Given the description of an element on the screen output the (x, y) to click on. 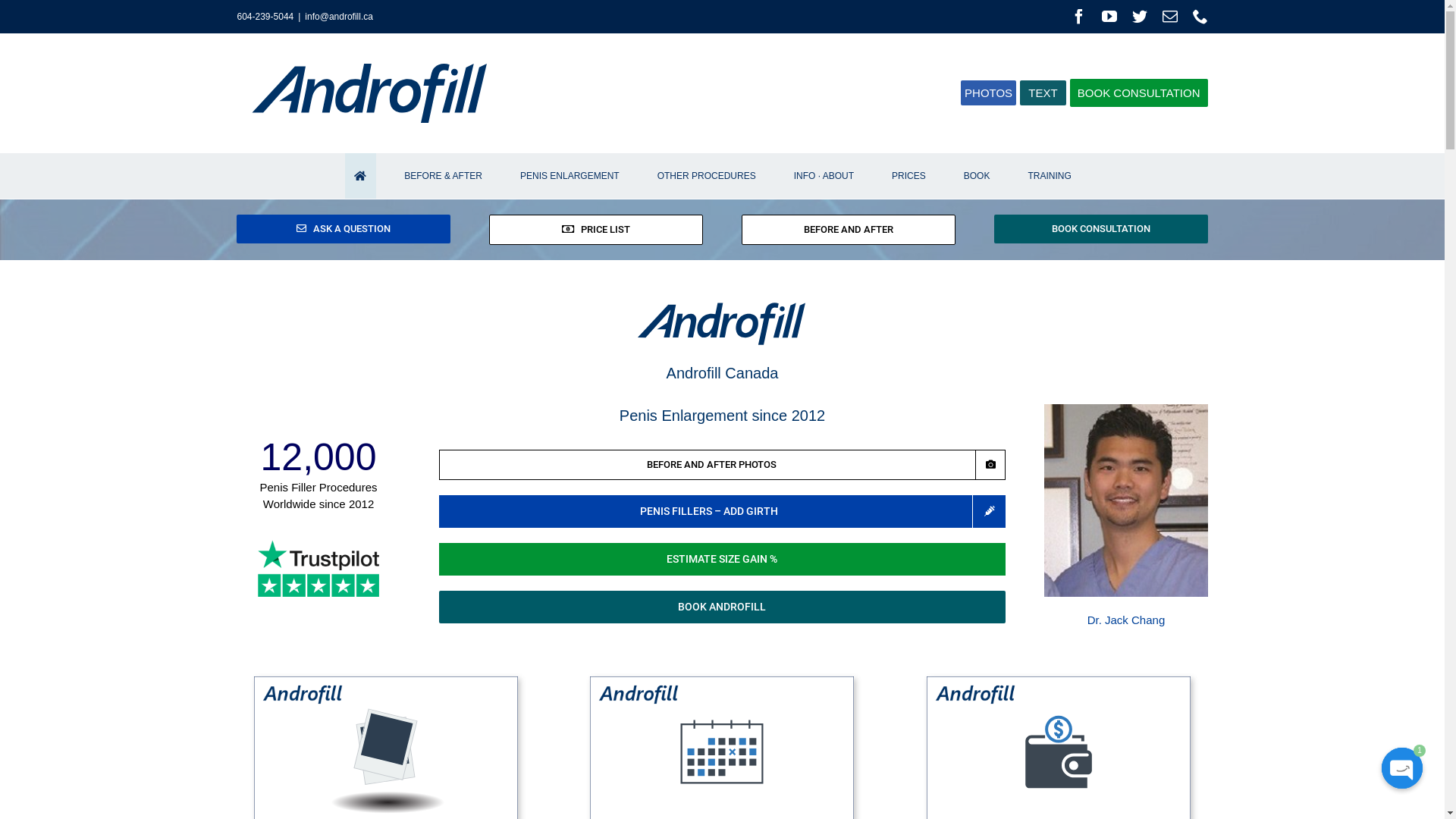
Twitter Element type: text (1139, 16)
BOOK CONSULTATION Element type: text (1139, 92)
BOOK CONSULTATION Element type: text (1101, 228)
BEFORE AND AFTER Element type: text (848, 229)
PHOTOS Element type: text (988, 92)
Facebook Element type: text (1078, 16)
TRAINING Element type: text (1049, 175)
OTHER PROCEDURES Element type: text (706, 175)
info@androfill.ca Element type: text (338, 16)
ASK A QUESTION Element type: text (343, 228)
TEXT Element type: text (1042, 92)
PRICES Element type: text (908, 175)
PRICE LIST Element type: text (595, 229)
YouTube Element type: text (1109, 16)
Dr Jack Chang Element type: hover (1125, 500)
Email Element type: text (1169, 16)
Penis Enlargement since 2012 Element type: text (722, 415)
Androfill SVG Element type: hover (721, 323)
Androfill Canada Element type: text (722, 372)
BOOK ANDROFILL Element type: text (722, 606)
Phone Element type: text (1200, 16)
Dr. Jack Chang Element type: text (1126, 619)
PENIS ENLARGEMENT Element type: text (569, 175)
BEFORE & AFTER Element type: text (443, 175)
ESTIMATE SIZE GAIN % Element type: text (722, 558)
TP Orig Element type: hover (318, 567)
BEFORE AND AFTER PHOTOS Element type: text (722, 464)
BOOK Element type: text (976, 175)
